Given the description of an element on the screen output the (x, y) to click on. 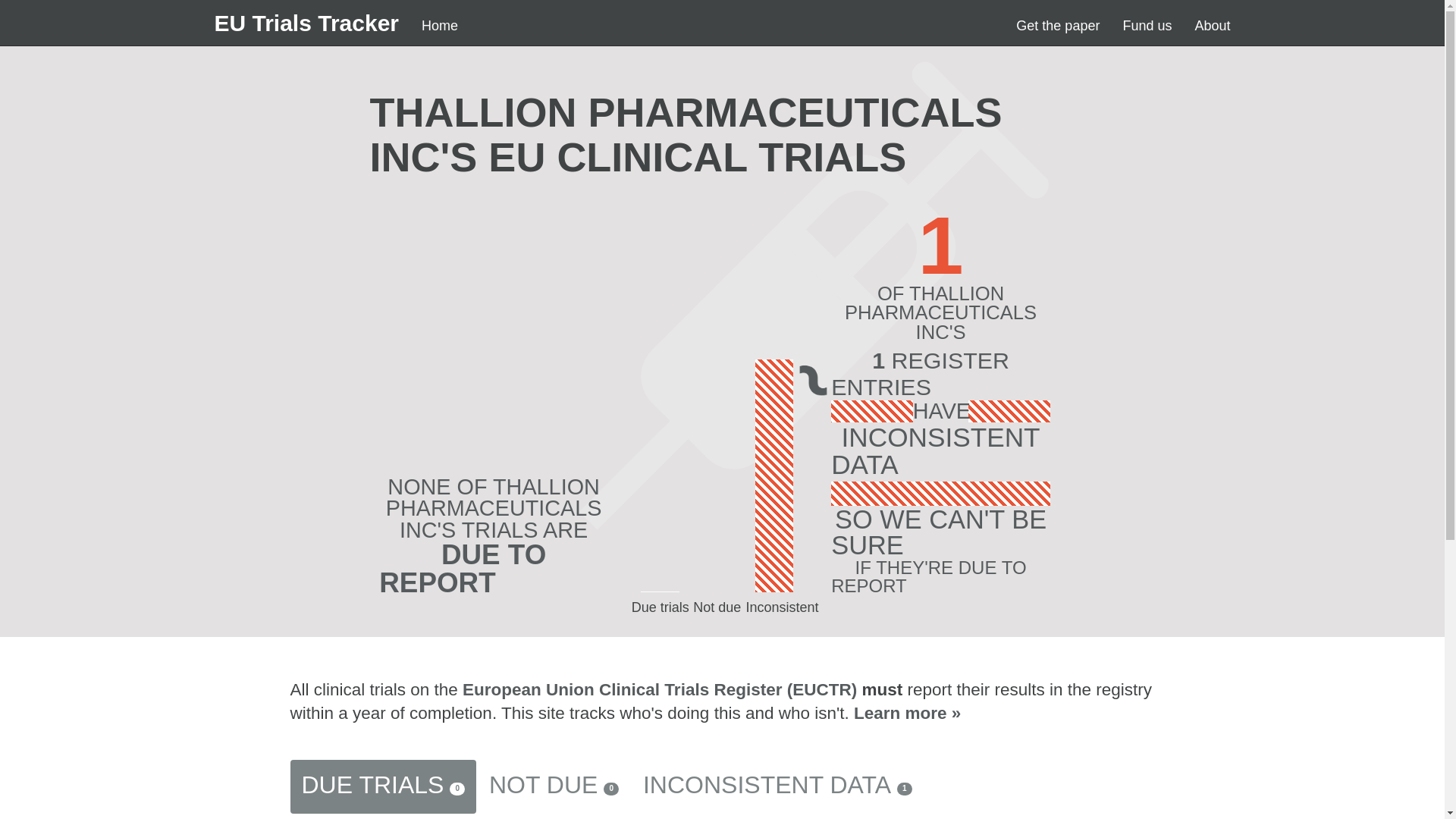
DUE TRIALS0 (382, 787)
INCONSISTENT DATA1 (777, 787)
EU Trials Tracker (306, 22)
NOT DUE0 (553, 787)
1 (453, 816)
Fund us (1146, 25)
Get the paper (1057, 25)
About (1211, 25)
Home (439, 25)
